Given the description of an element on the screen output the (x, y) to click on. 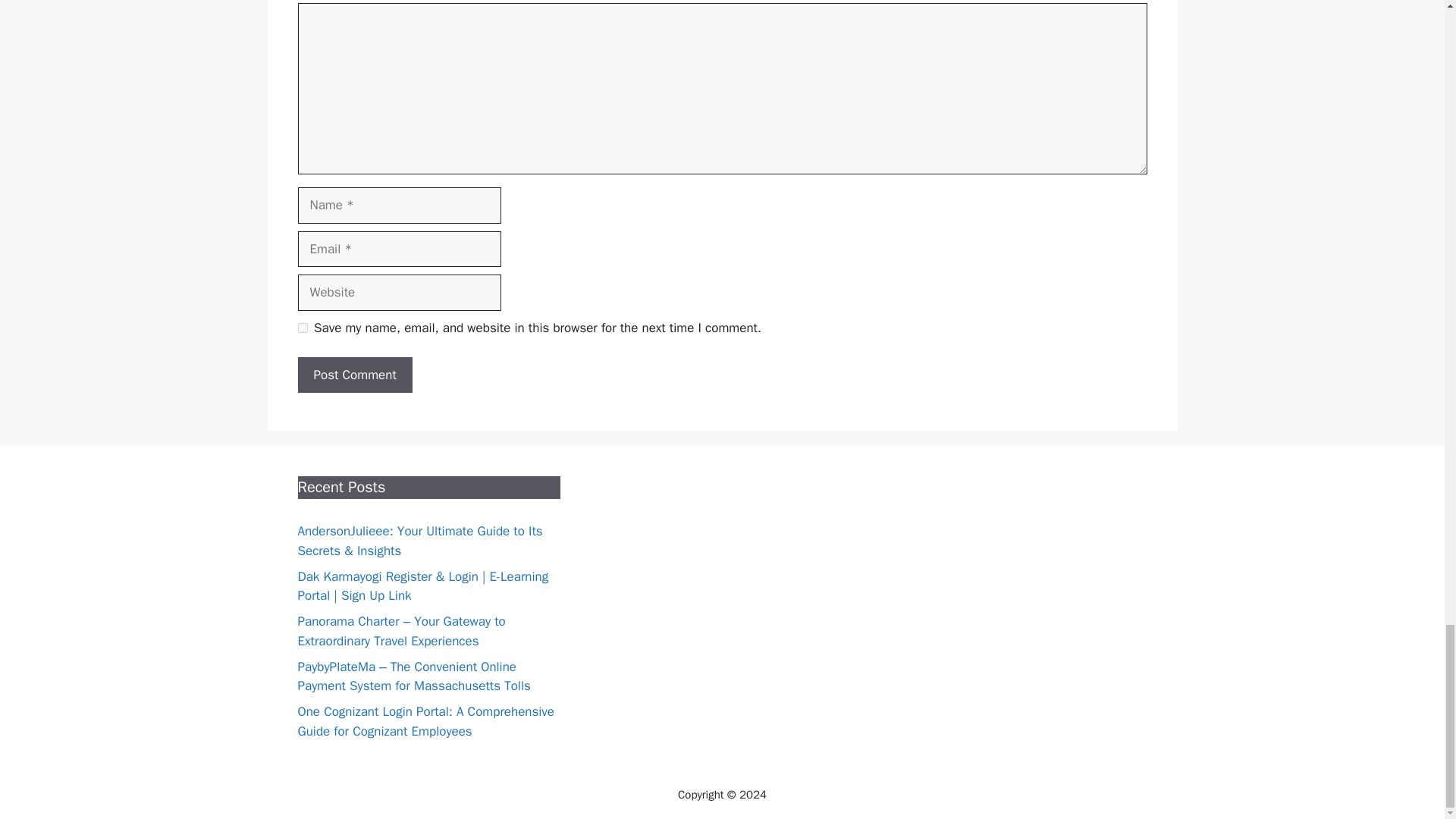
Post Comment (354, 375)
yes (302, 327)
Post Comment (354, 375)
